Given the description of an element on the screen output the (x, y) to click on. 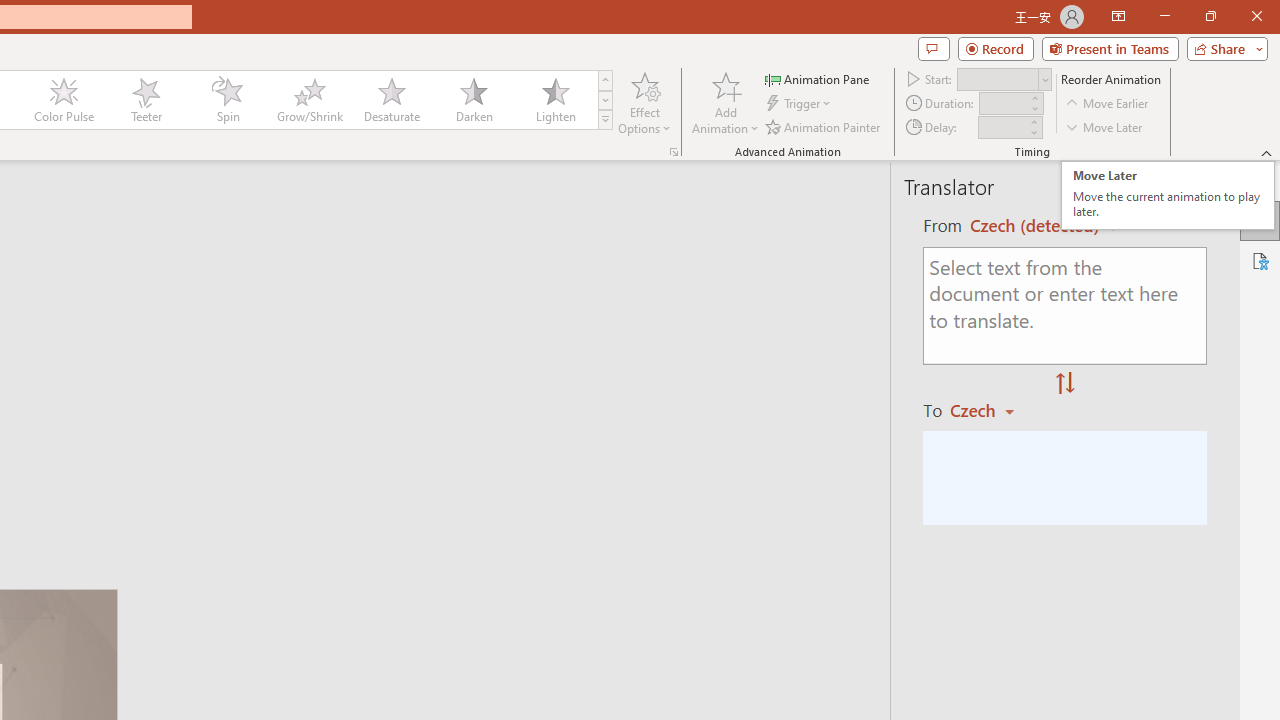
Animation Duration (1003, 103)
Grow/Shrink (309, 100)
Animation Pane (1167, 195)
Move Later (818, 78)
Add Animation (1105, 126)
Animation Styles (725, 102)
Spin (605, 120)
